Given the description of an element on the screen output the (x, y) to click on. 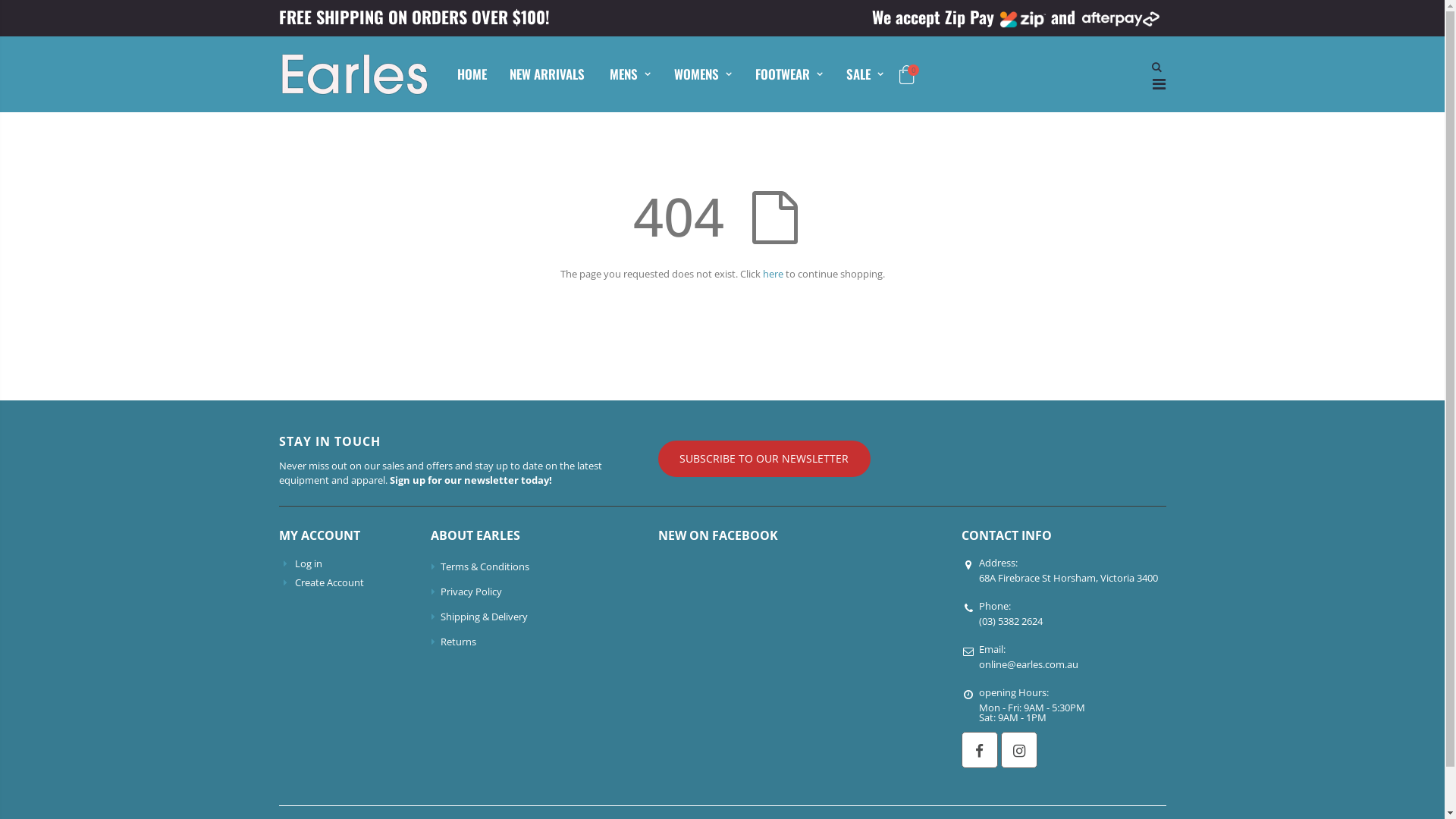
Create Account Element type: text (329, 582)
SUBSCRIBE TO OUR NEWSLETTER Element type: text (676, 458)
0 Element type: text (906, 77)
Returns Element type: text (458, 641)
Privacy Policy Element type: text (471, 591)
FOOTWEAR Element type: text (787, 73)
Shipping & Delivery Element type: text (483, 616)
NEW ARRIVALS Element type: text (547, 73)
HOME Element type: text (470, 73)
Log in Element type: text (308, 563)
WOMENS Element type: text (701, 73)
SALE Element type: text (863, 73)
SUBSCRIBE TO OUR NEWSLETTER Element type: text (764, 458)
online@earles.com.au Element type: text (1028, 664)
MENS Element type: text (629, 73)
Terms & Conditions Element type: text (484, 566)
here Element type: text (772, 273)
